Given the description of an element on the screen output the (x, y) to click on. 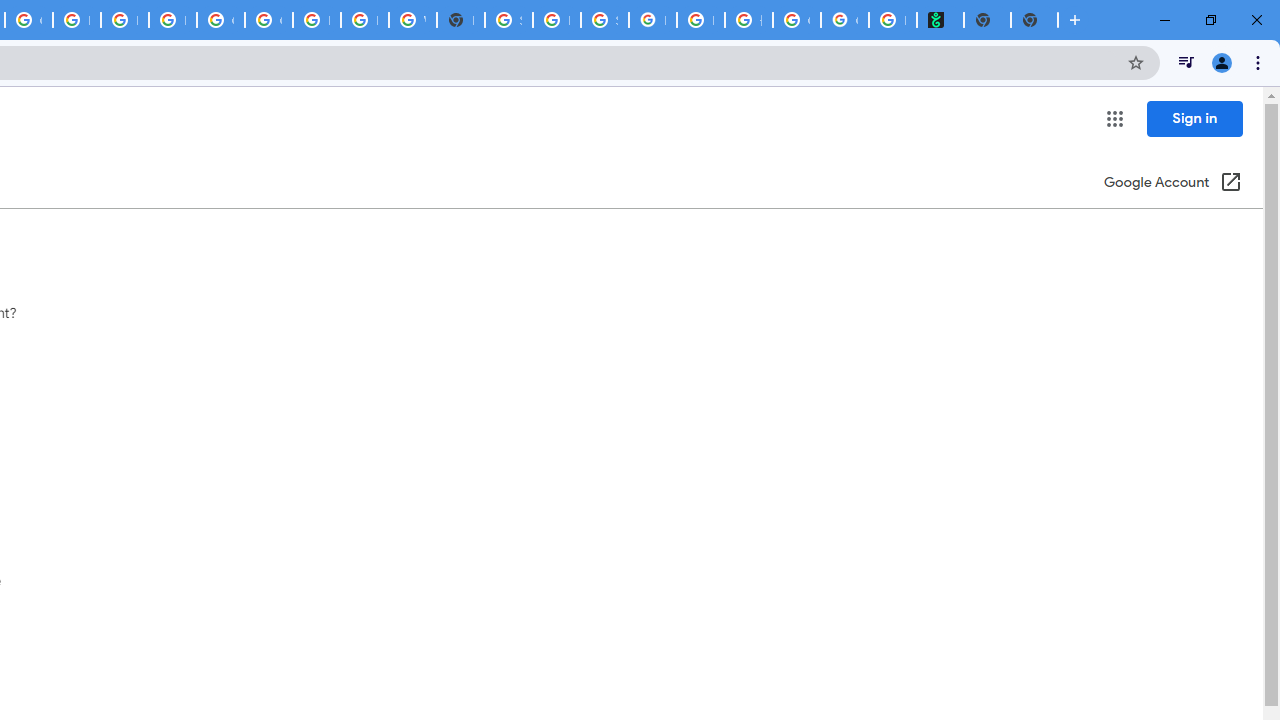
Google Cloud Platform (268, 20)
